Given the description of an element on the screen output the (x, y) to click on. 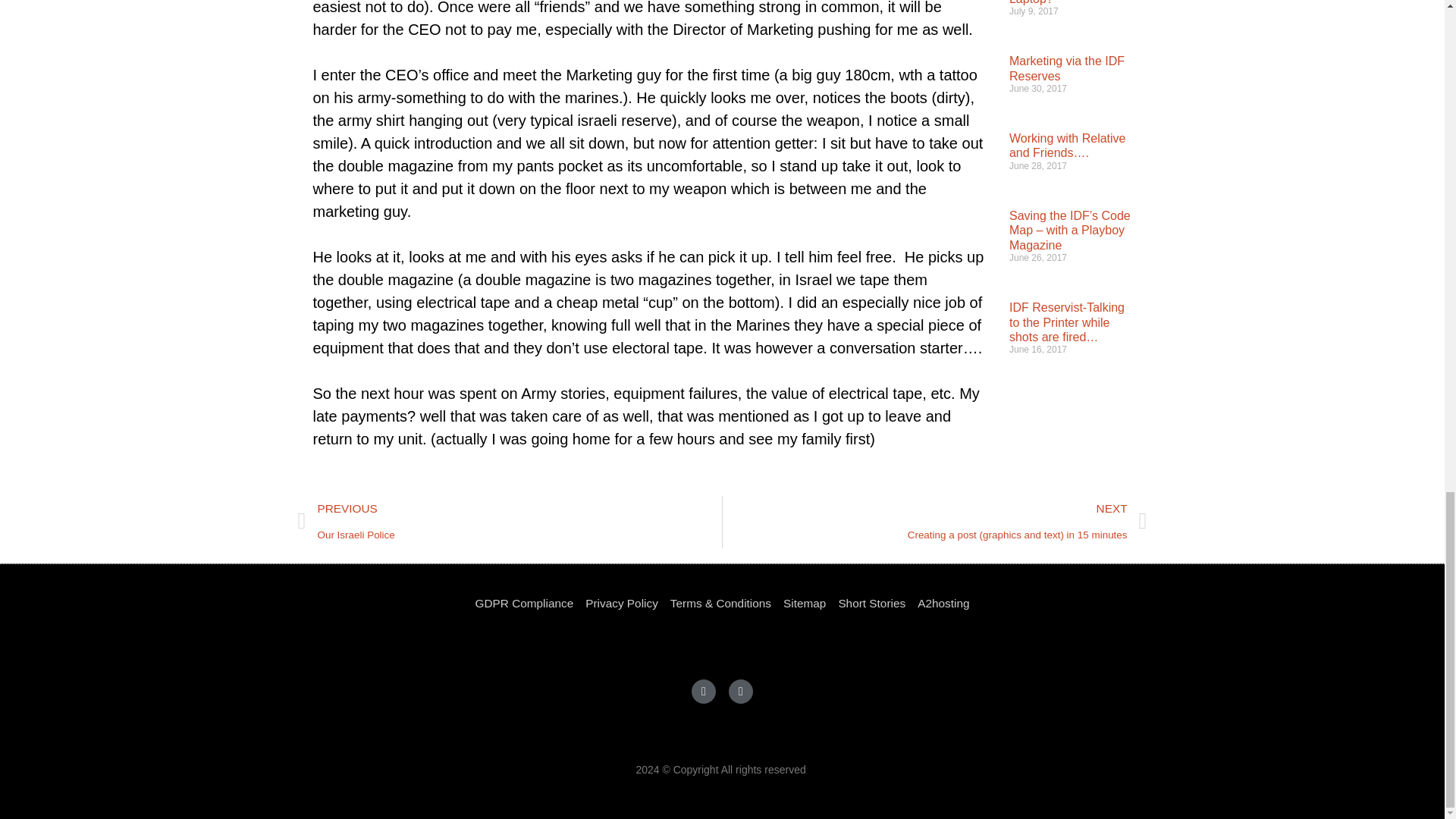
Where to Secure the Laptop? (1065, 2)
